Given the description of an element on the screen output the (x, y) to click on. 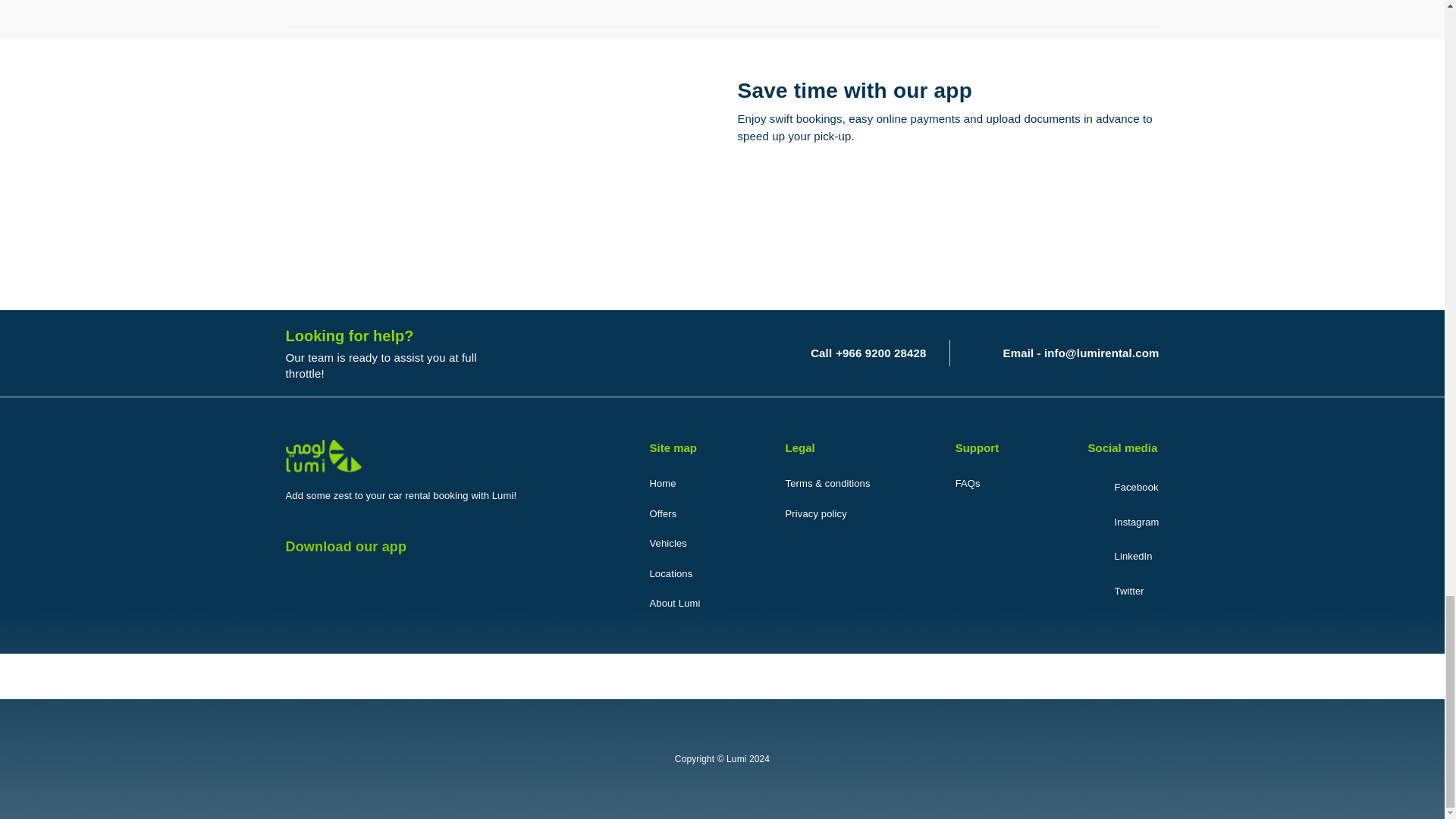
Lumi IOS App (919, 256)
Vehicles (667, 543)
Home (662, 483)
Lumi Android App (919, 193)
Locations (671, 573)
Offers (663, 513)
View all cities (722, 4)
